Given the description of an element on the screen output the (x, y) to click on. 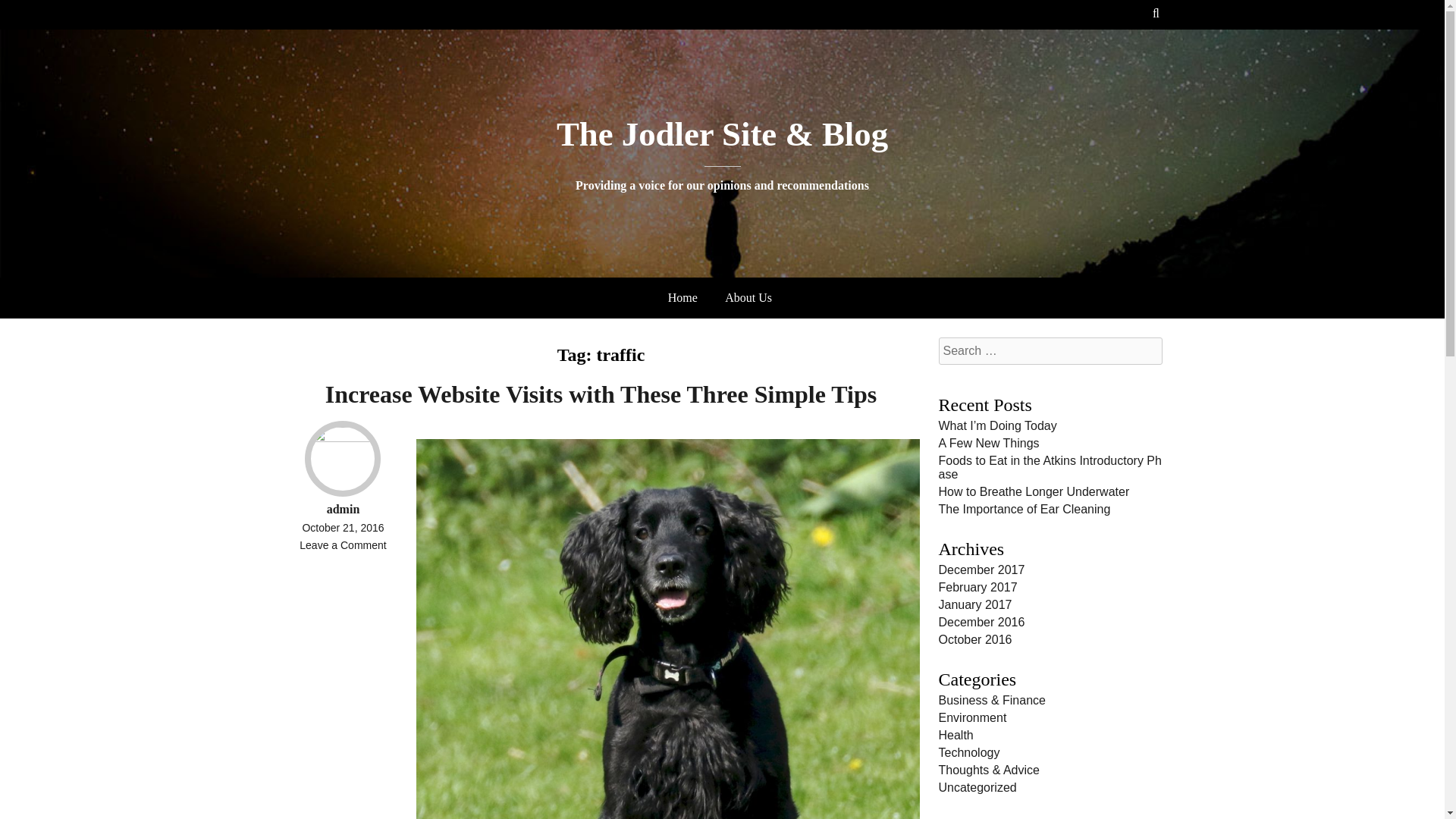
The Importance of Ear Cleaning (1024, 508)
Uncategorized (977, 787)
Foods to Eat in the Atkins Introductory Phase (1050, 467)
Health (956, 735)
1:06 am (342, 527)
Technology (969, 752)
January 2017 (975, 604)
December 2016 (982, 621)
October 21, 2016 (342, 527)
Home (683, 297)
